Given the description of an element on the screen output the (x, y) to click on. 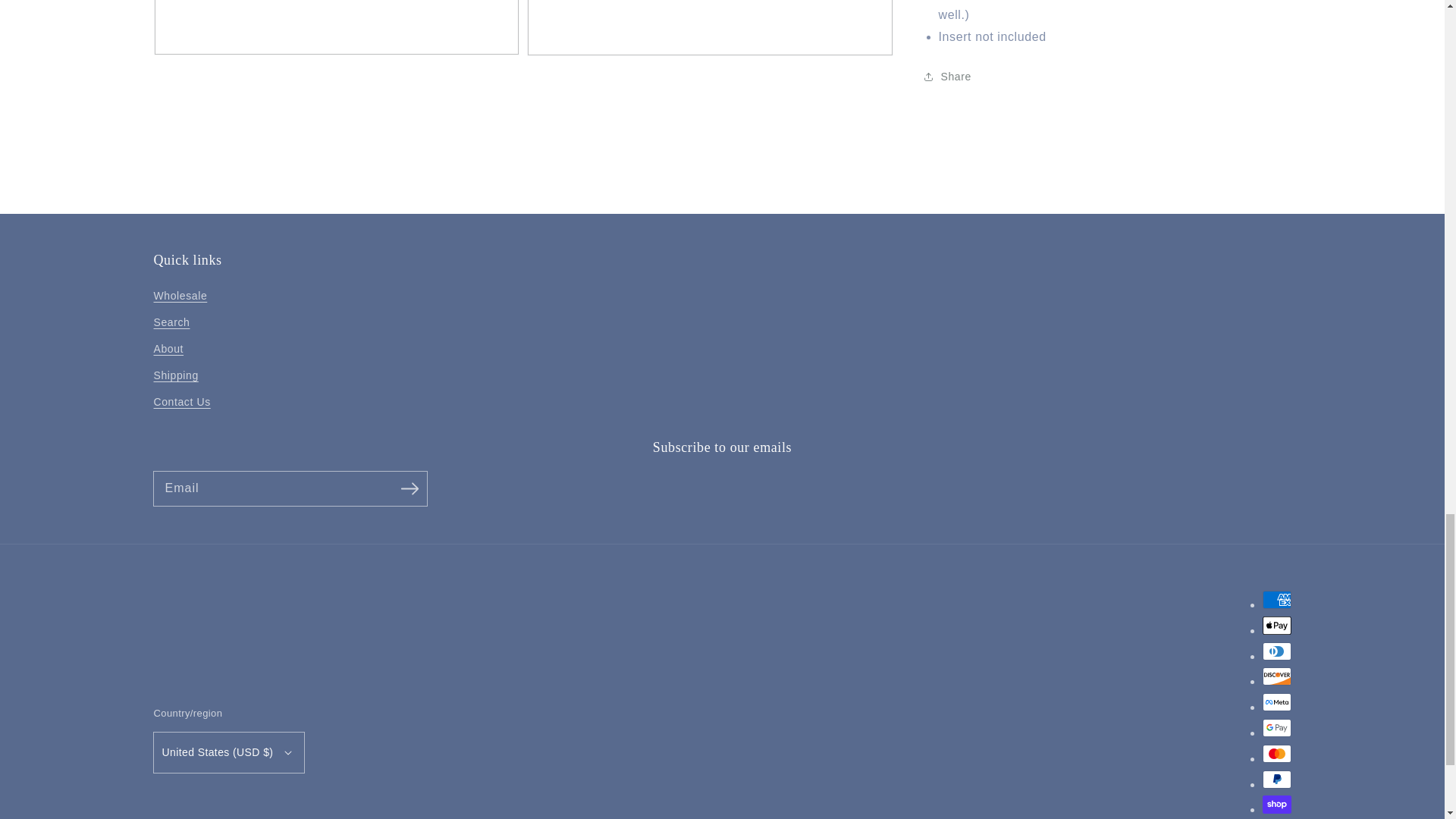
Shop Pay (1276, 804)
Mastercard (1276, 753)
Discover (1276, 676)
Google Pay (1276, 728)
American Express (1276, 599)
PayPal (1276, 779)
Meta Pay (1276, 701)
Apple Pay (1276, 625)
Diners Club (1276, 651)
